Given the description of an element on the screen output the (x, y) to click on. 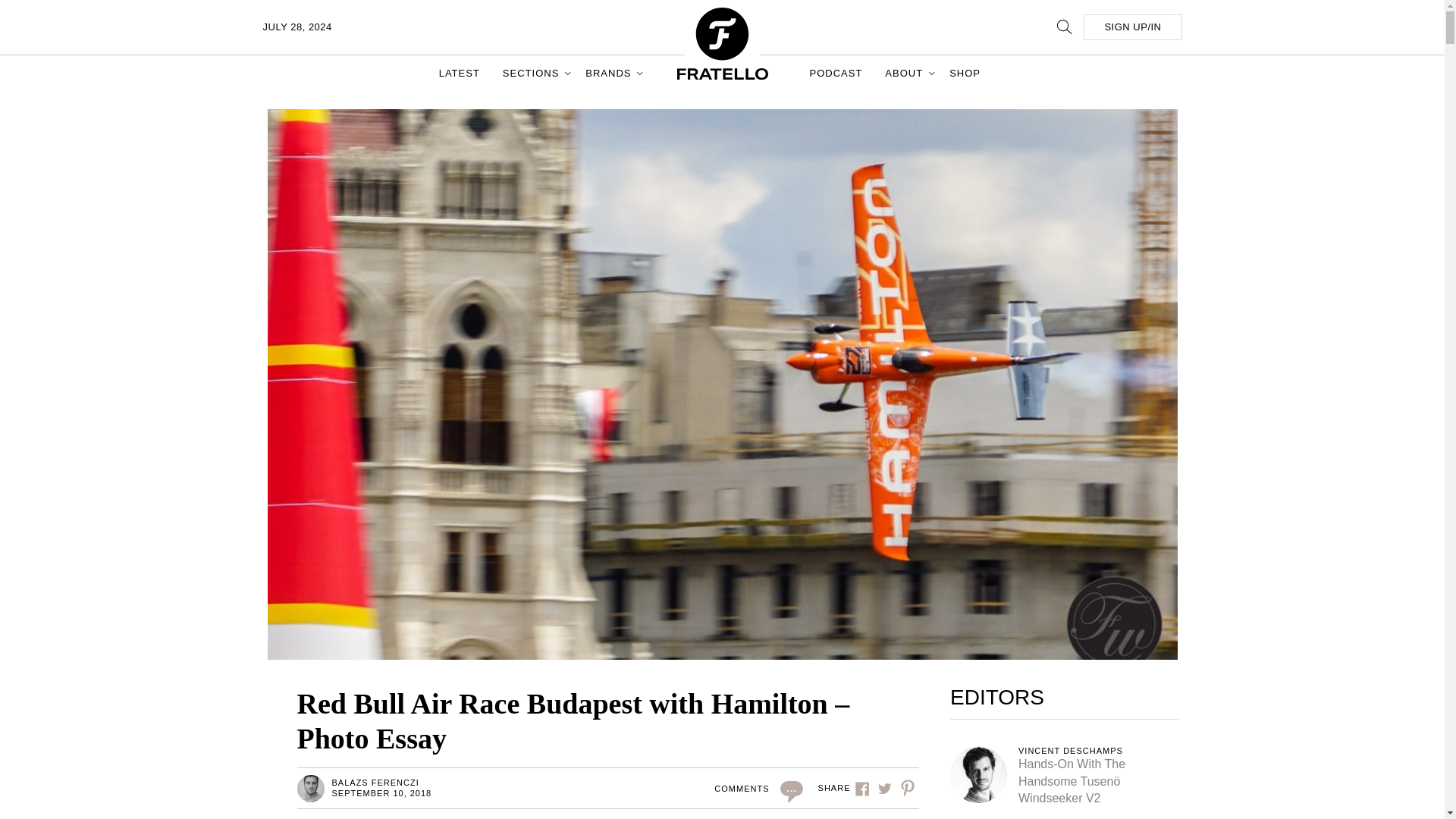
SECTIONS (532, 72)
LATEST (460, 72)
BRANDS (609, 72)
